Given the description of an element on the screen output the (x, y) to click on. 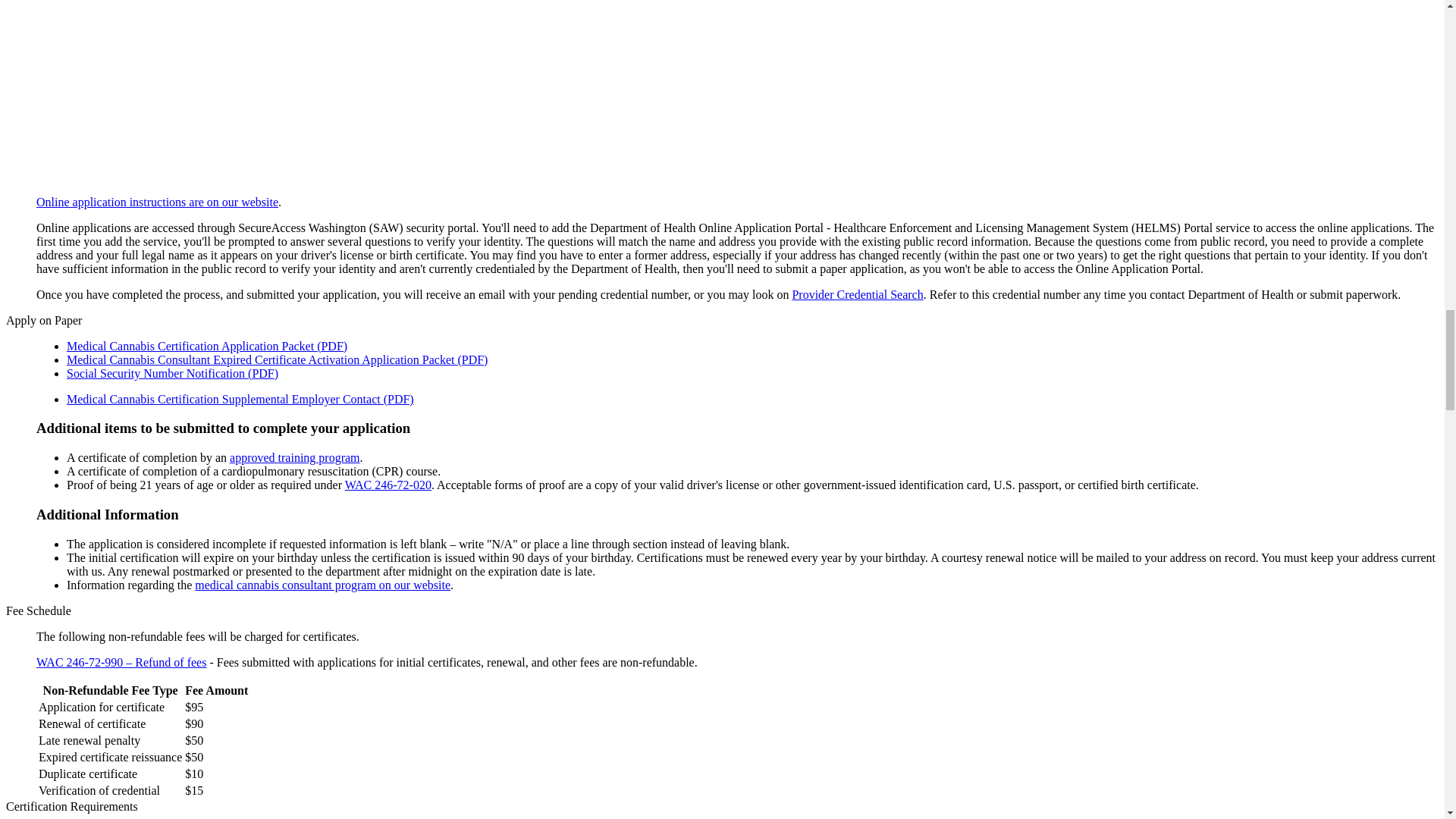
YouTube video player (248, 90)
